Given the description of an element on the screen output the (x, y) to click on. 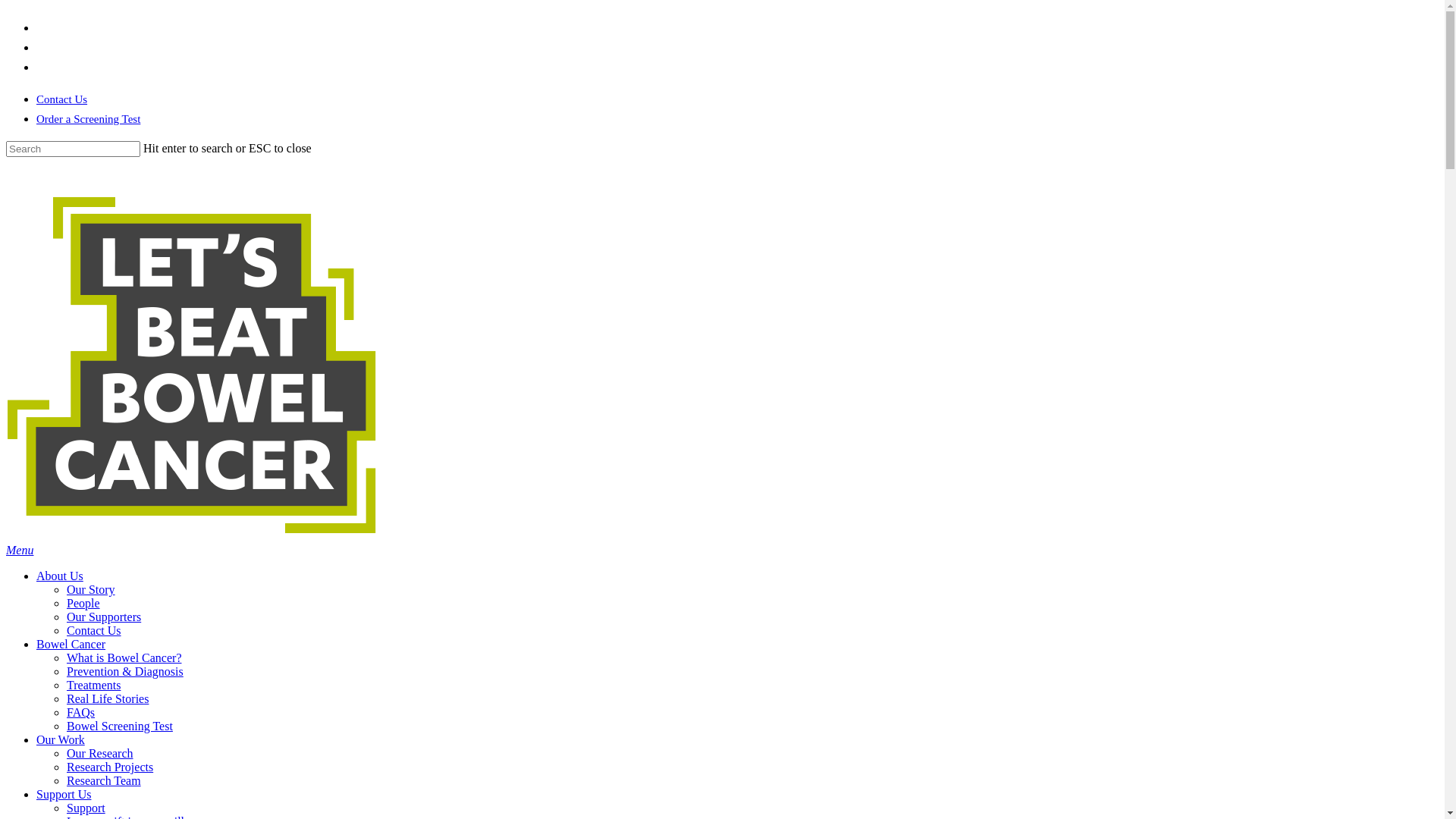
Our Story Element type: text (90, 589)
Contact Us Element type: text (93, 630)
People Element type: text (83, 602)
Support Us Element type: text (63, 793)
Research Team Element type: text (103, 780)
FAQs Element type: text (80, 712)
Bowel Cancer Element type: text (70, 643)
Real Life Stories Element type: text (107, 698)
What is Bowel Cancer? Element type: text (124, 657)
Prevention & Diagnosis Element type: text (124, 671)
Menu Element type: text (19, 549)
Research Projects Element type: text (109, 766)
Support Element type: text (85, 807)
Order a Screening Test Element type: text (88, 118)
Contact Us Element type: text (61, 99)
Bowel Screening Test Element type: text (119, 725)
Our Work Element type: text (60, 739)
About Us Element type: text (59, 575)
Our Supporters Element type: text (103, 616)
Our Research Element type: text (99, 752)
Skip to main content Element type: text (5, 5)
Treatments Element type: text (93, 684)
